Given the description of an element on the screen output the (x, y) to click on. 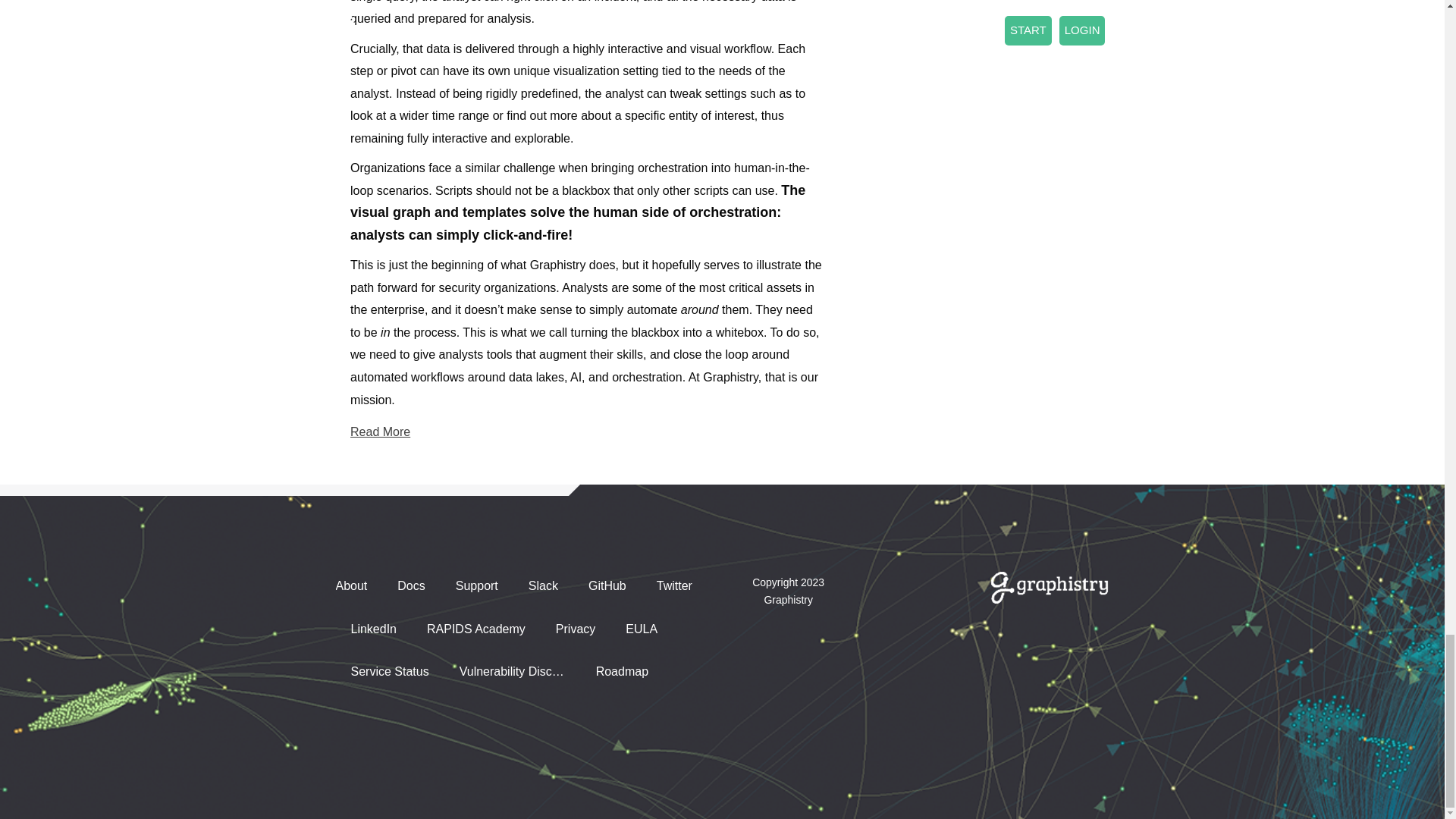
Graphistry Logo.png (1049, 587)
